Given the description of an element on the screen output the (x, y) to click on. 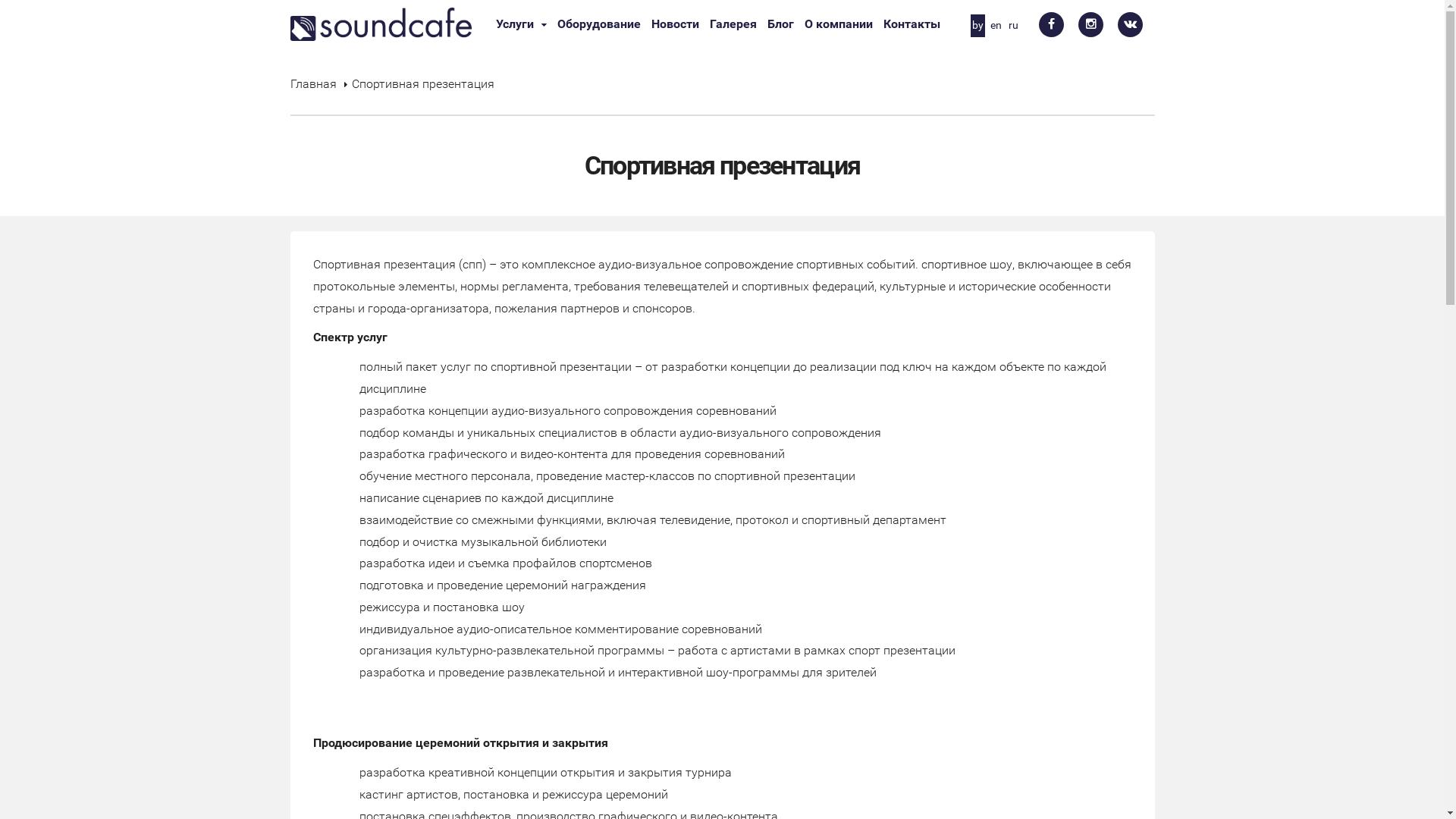
en Element type: text (995, 25)
ru Element type: text (1013, 25)
